Given the description of an element on the screen output the (x, y) to click on. 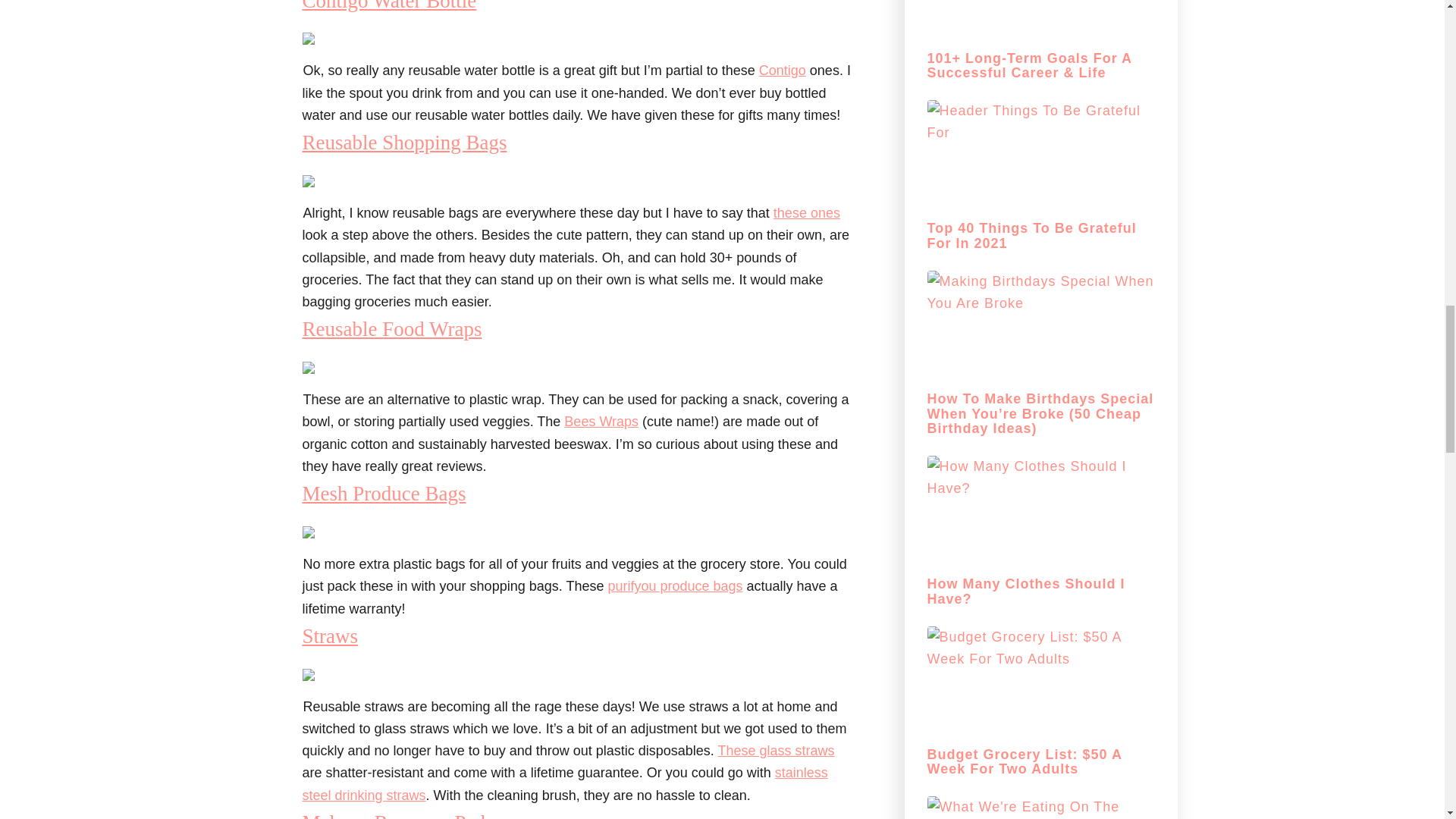
Straws (329, 635)
Mesh Produce Bags (383, 493)
Reusable Food Wraps (391, 328)
Bees Wraps (601, 421)
purifyou produce bags (674, 585)
Contigo Water Bottle (388, 6)
Reusable Shopping Bags (403, 142)
these ones (806, 212)
Contigo (782, 70)
